Given the description of an element on the screen output the (x, y) to click on. 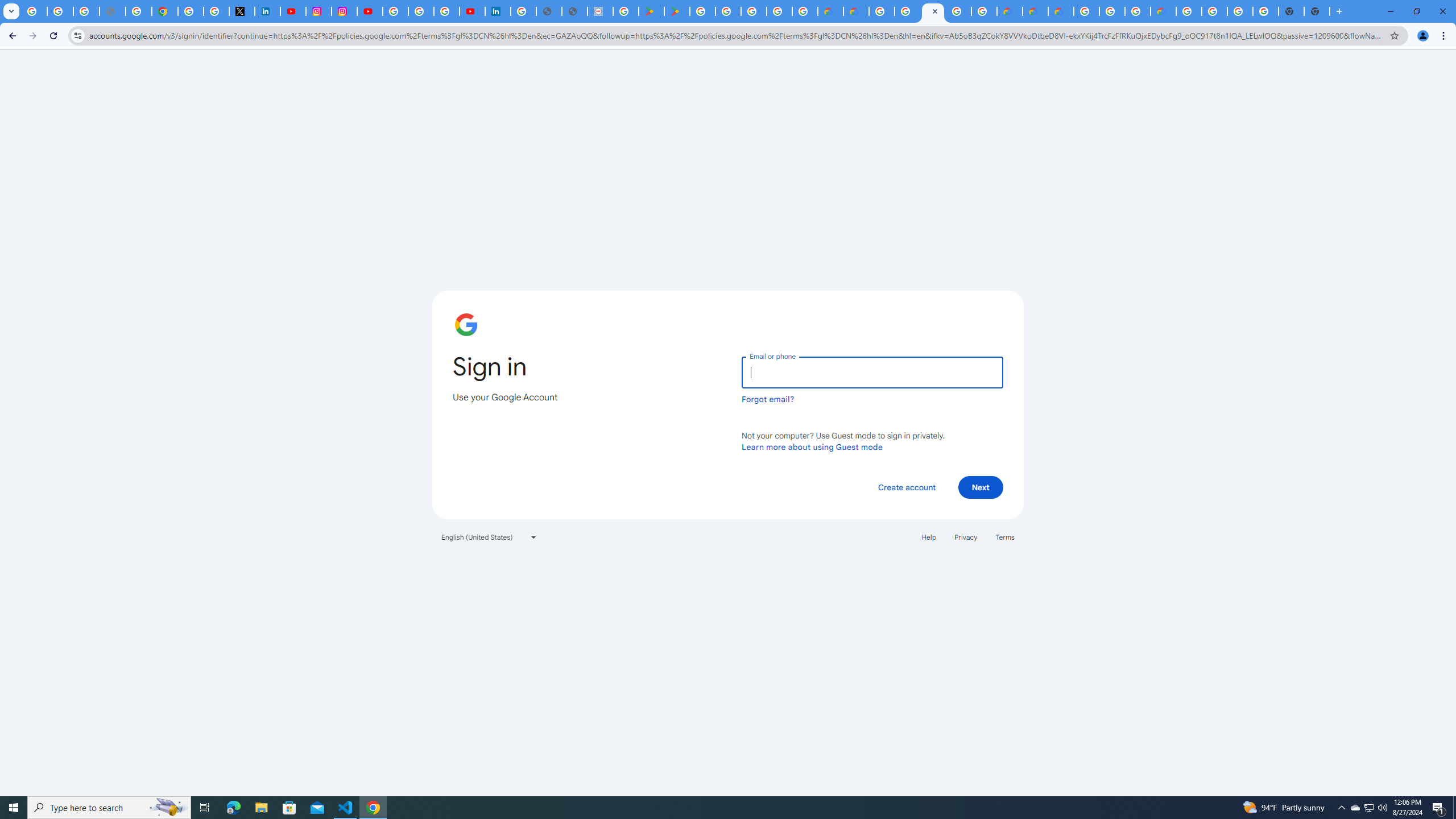
Customer Care | Google Cloud (1009, 11)
Privacy Help Center - Policies Help (138, 11)
Forgot email? (767, 398)
Browse Chrome as a guest - Computer - Google Chrome Help (1111, 11)
Next (980, 486)
PAW Patrol Rescue World - Apps on Google Play (676, 11)
